Given the description of an element on the screen output the (x, y) to click on. 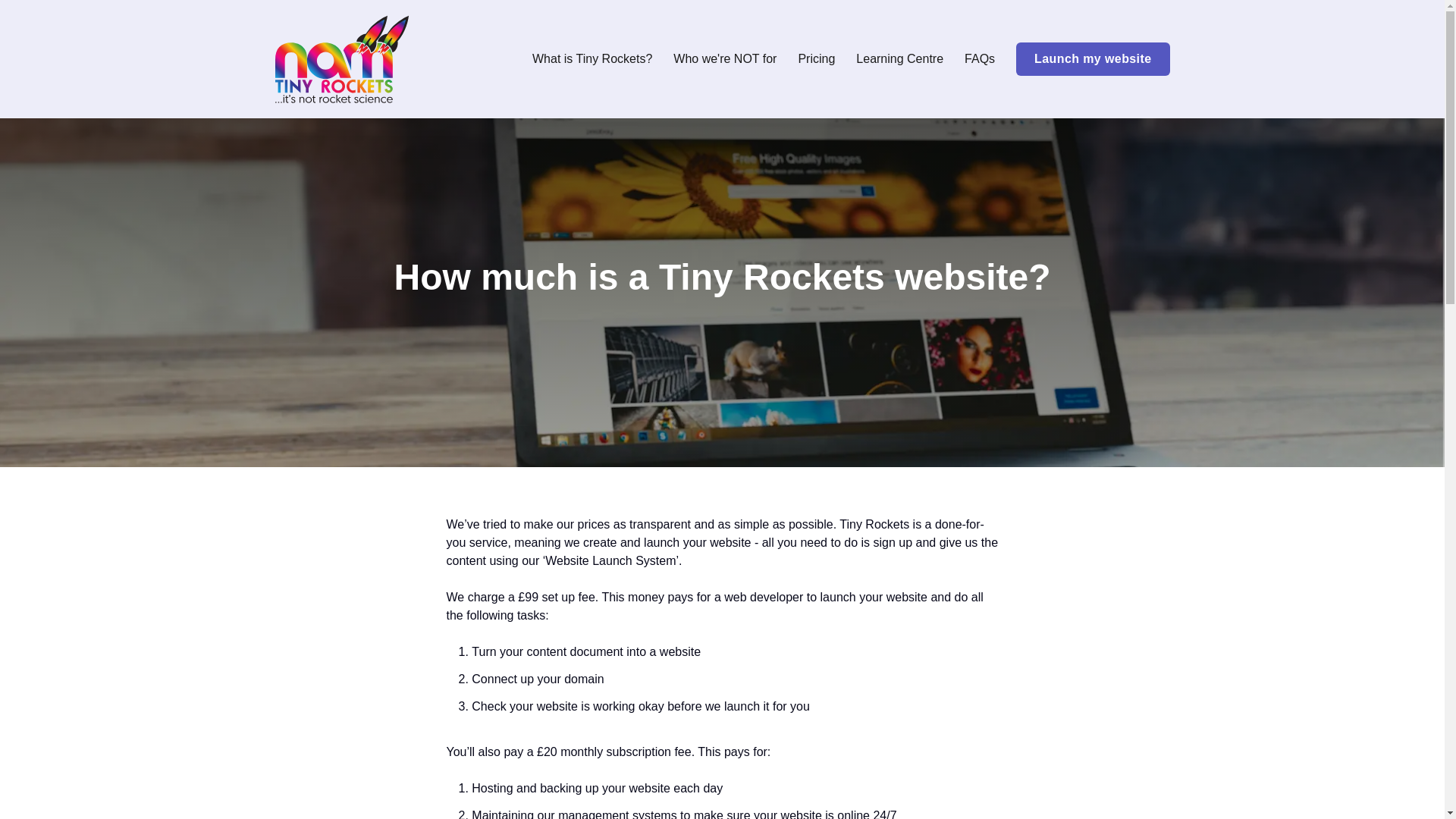
web developer to launch your website (825, 596)
Launch my website (1092, 59)
FAQs (978, 58)
What is Tiny Rockets? (592, 58)
Who we're NOT for (724, 58)
Pricing (815, 58)
Learning Centre (899, 58)
